Given the description of an element on the screen output the (x, y) to click on. 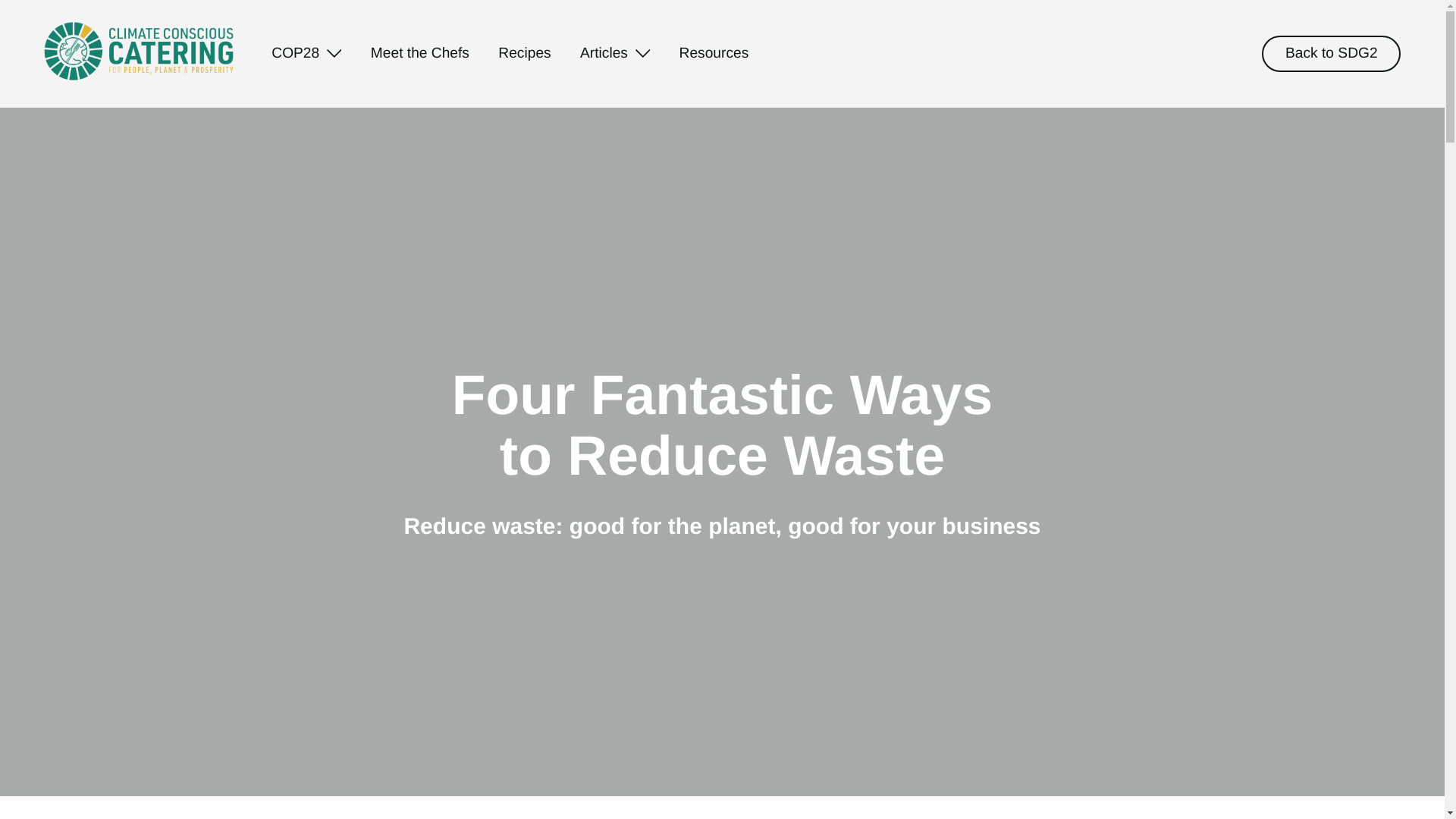
Resources (714, 54)
COP28 (305, 54)
Articles (614, 54)
Meet the Chefs (419, 54)
Recipes (523, 54)
Back to SDG2 (1331, 54)
